Given the description of an element on the screen output the (x, y) to click on. 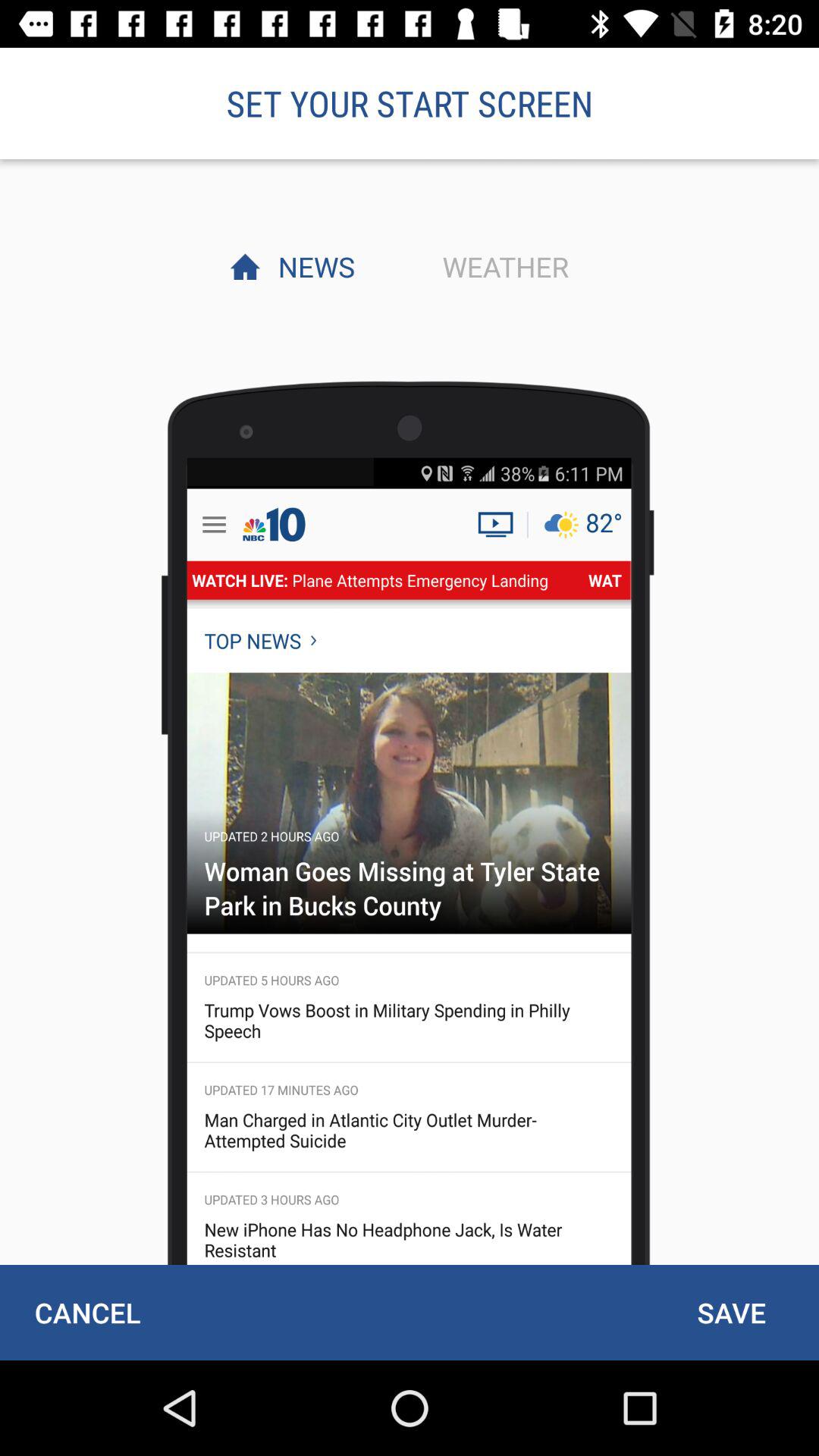
click item to the right of the cancel icon (731, 1312)
